Given the description of an element on the screen output the (x, y) to click on. 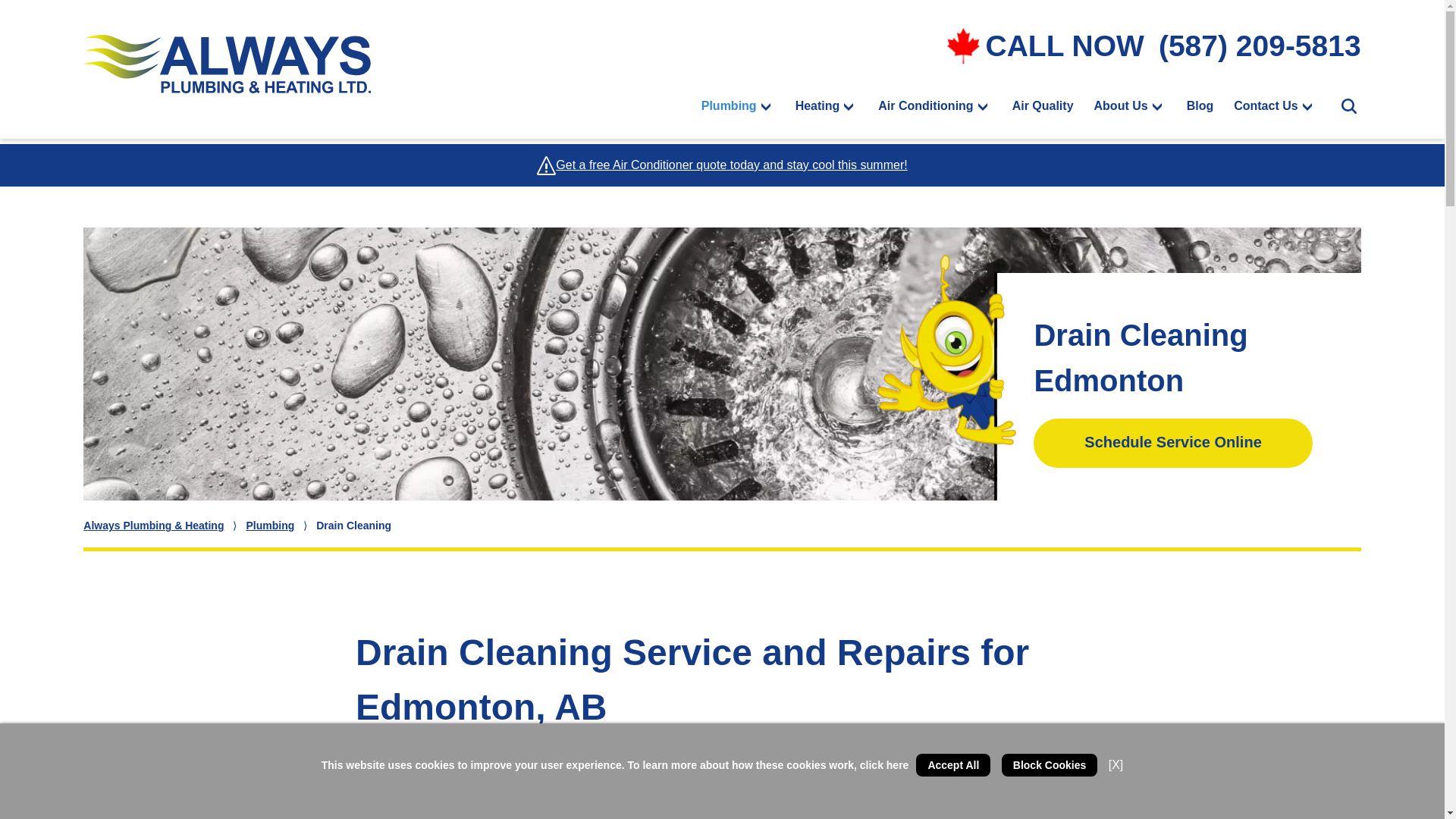
Heating (817, 105)
About Us (1121, 105)
Click to close and continue browsing (1116, 765)
Go to Plumbing. (270, 525)
Air Quality (1042, 105)
Air Conditioning (924, 105)
Click to block cookies on your browser (1049, 764)
Plumbing (729, 105)
